Given the description of an element on the screen output the (x, y) to click on. 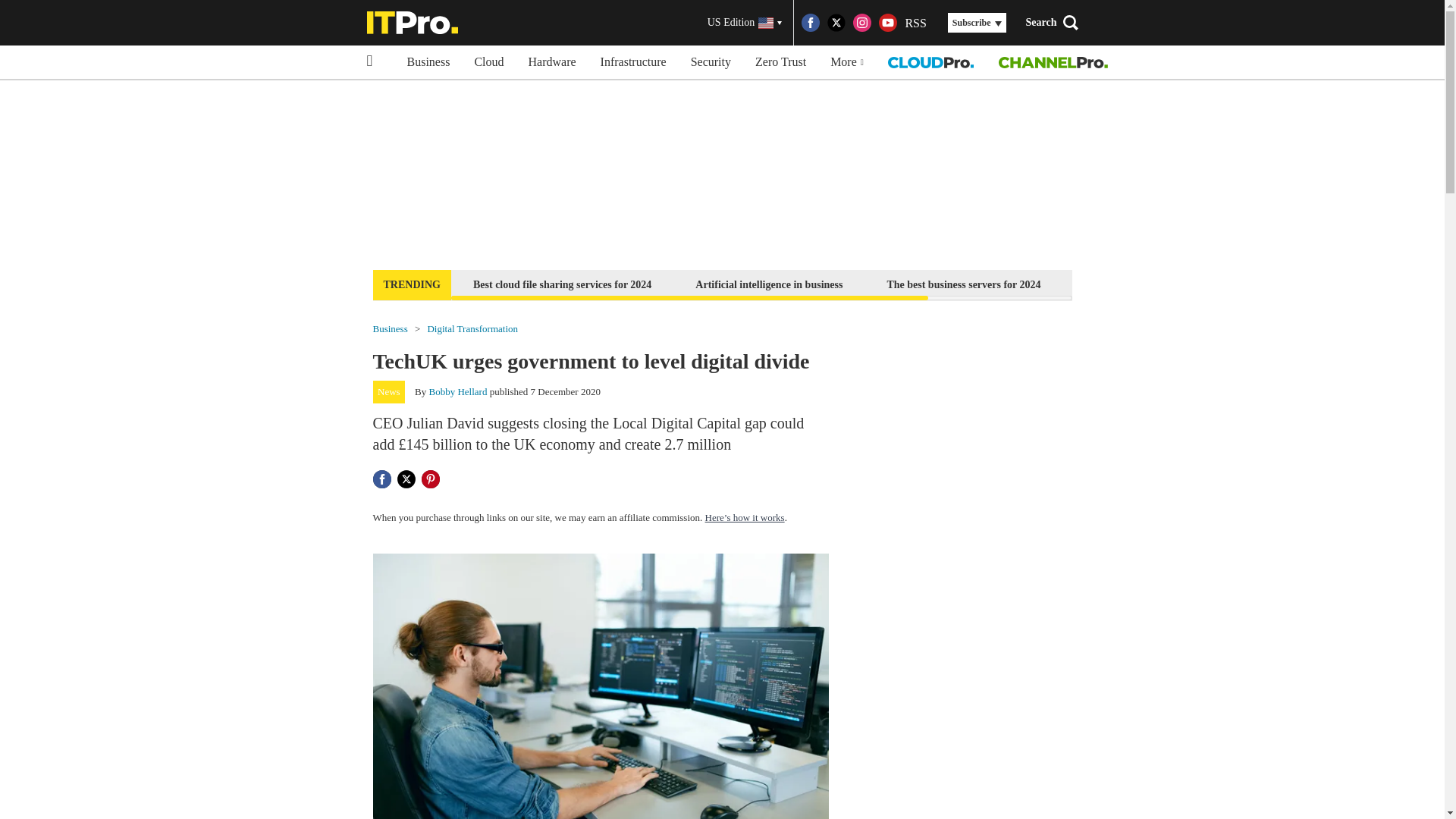
News (389, 391)
Security (710, 61)
Infrastructure (633, 61)
Business (389, 327)
US Edition (745, 22)
Business (427, 61)
Best cloud file sharing services for 2024 (561, 284)
Cloud (488, 61)
Hardware (552, 61)
Artificial intelligence in business (768, 284)
RSS (915, 22)
Zero Trust (780, 61)
Subscribe to the ITPro newsletter (1161, 284)
Bobby Hellard (458, 391)
The best business servers for 2024 (962, 284)
